Given the description of an element on the screen output the (x, y) to click on. 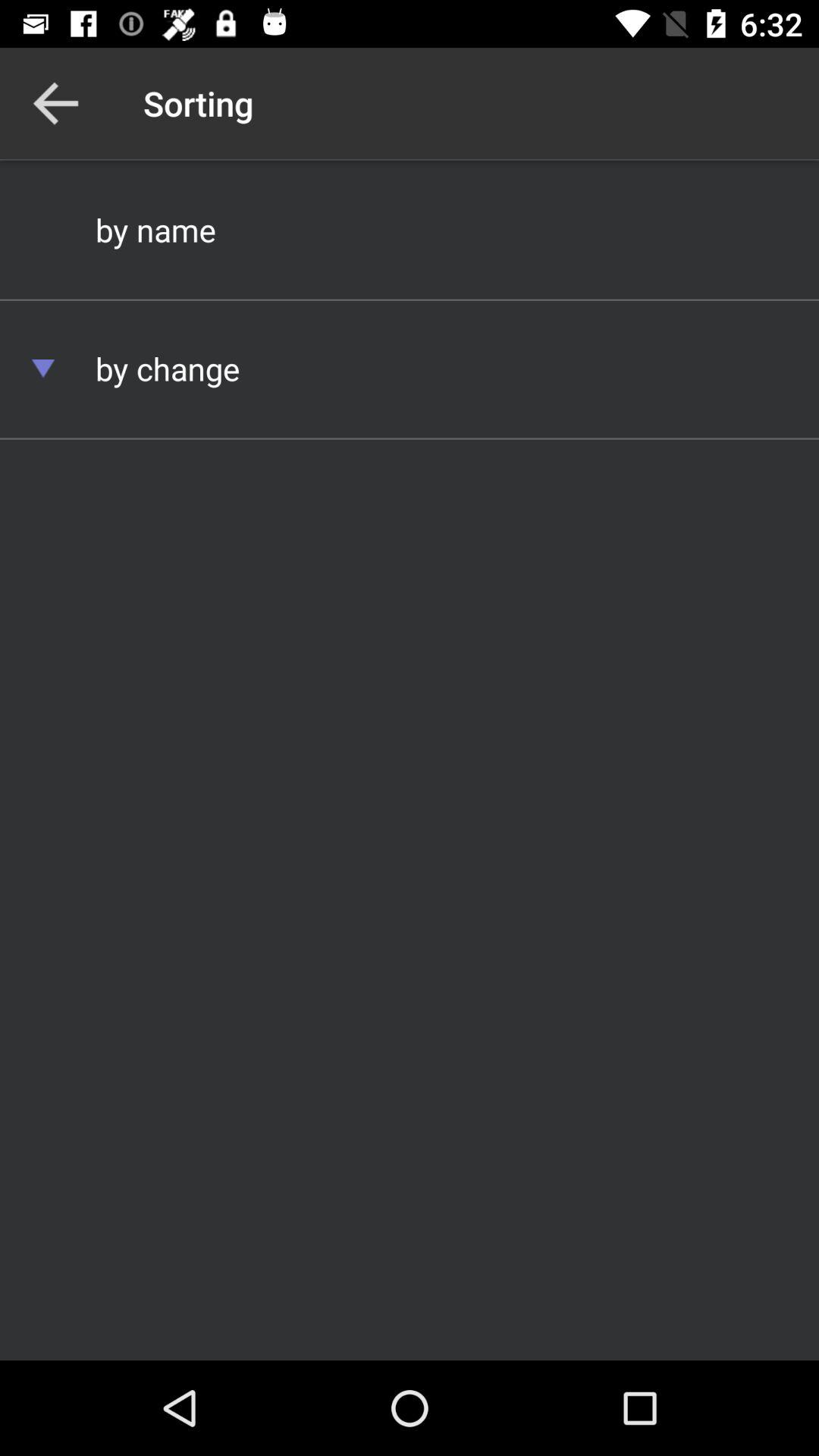
go back (55, 103)
